Given the description of an element on the screen output the (x, y) to click on. 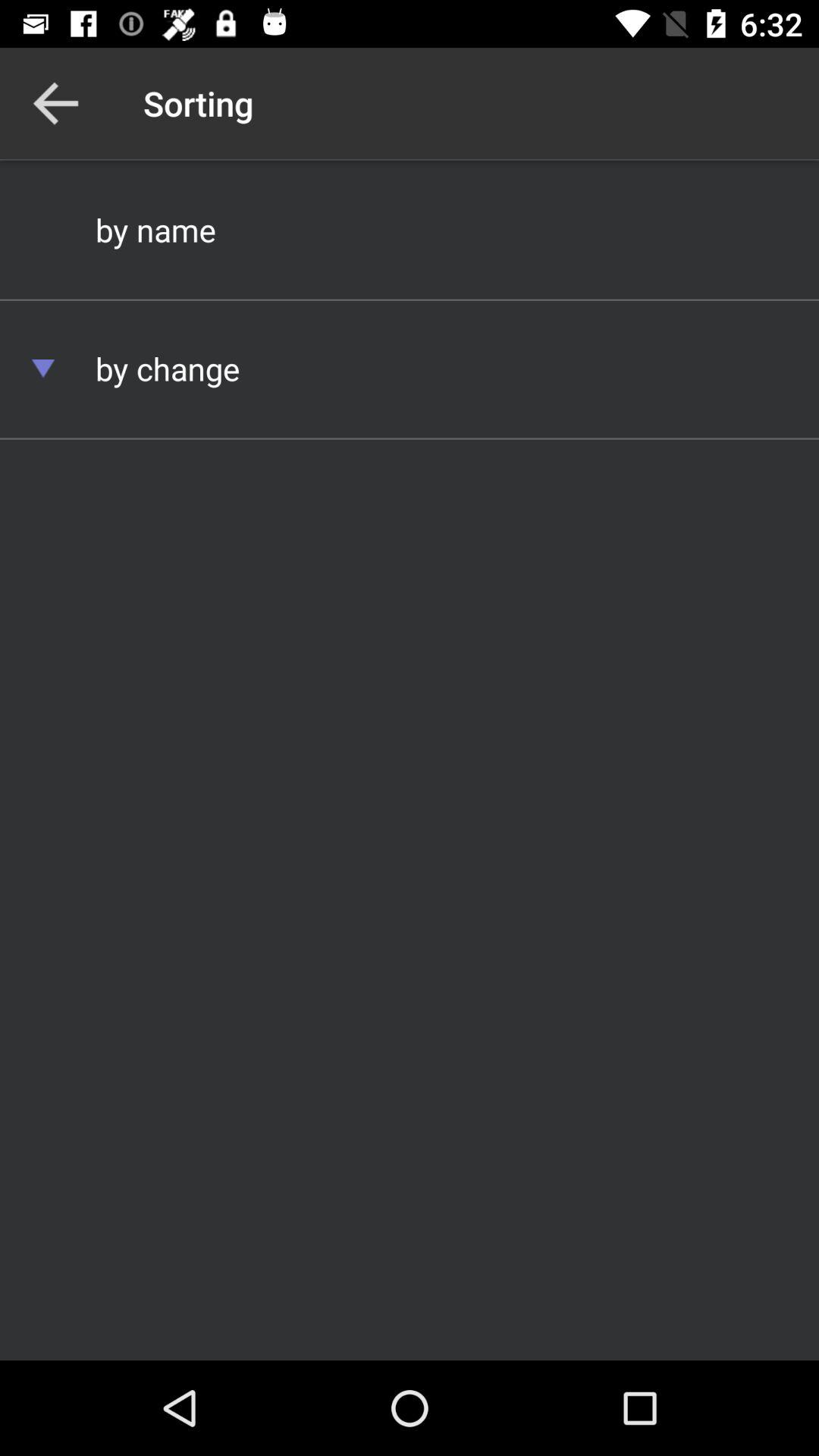
go back (55, 103)
